Given the description of an element on the screen output the (x, y) to click on. 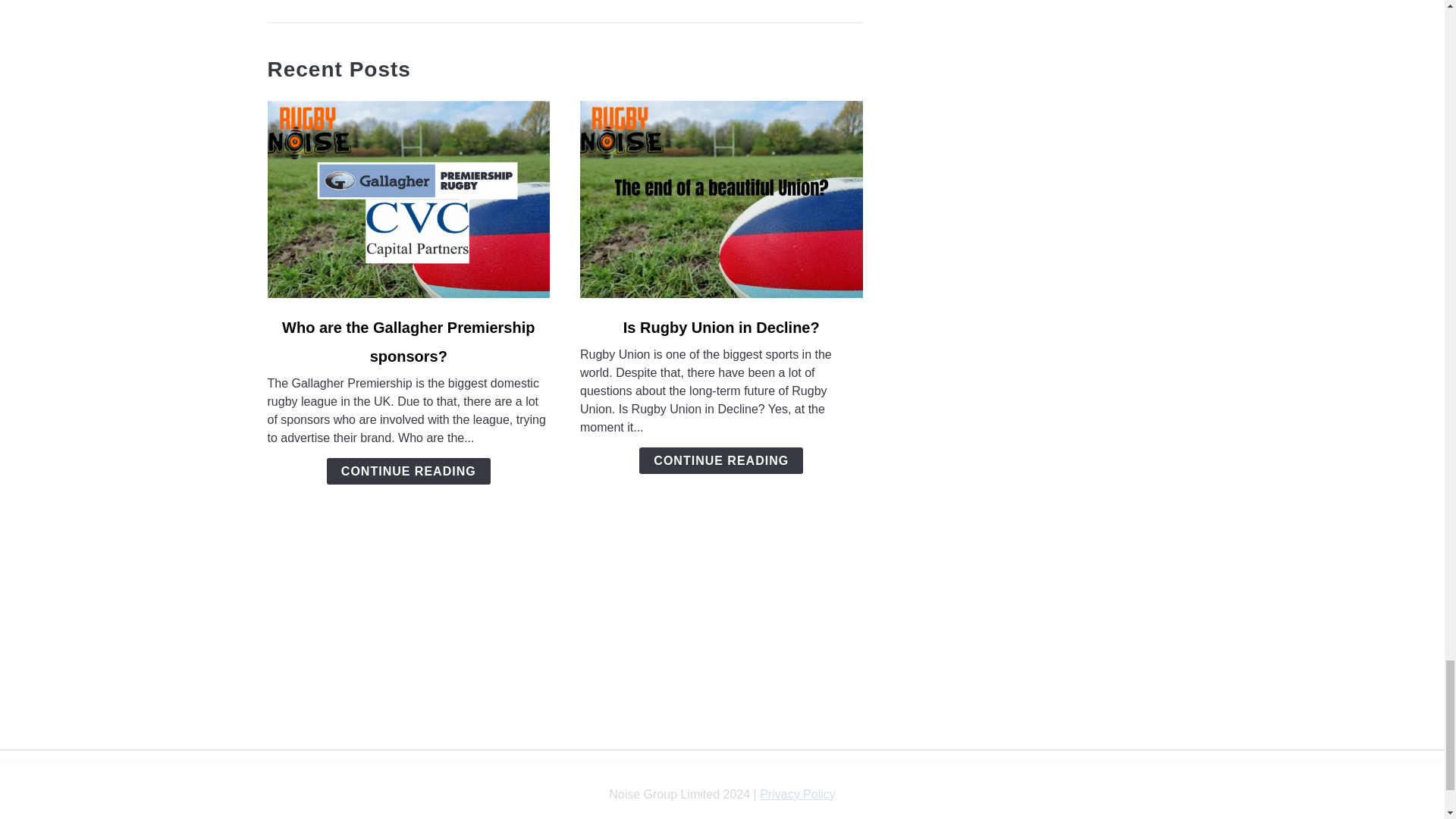
Is Rugby Union in Decline? (721, 327)
Privacy Policy (797, 793)
CONTINUE READING (721, 460)
link to Is Rugby Union in Decline? (721, 199)
link to Who are the Gallagher Premiership sponsors? (408, 199)
CONTINUE READING (408, 470)
Who are the Gallagher Premiership sponsors? (408, 341)
